Given the description of an element on the screen output the (x, y) to click on. 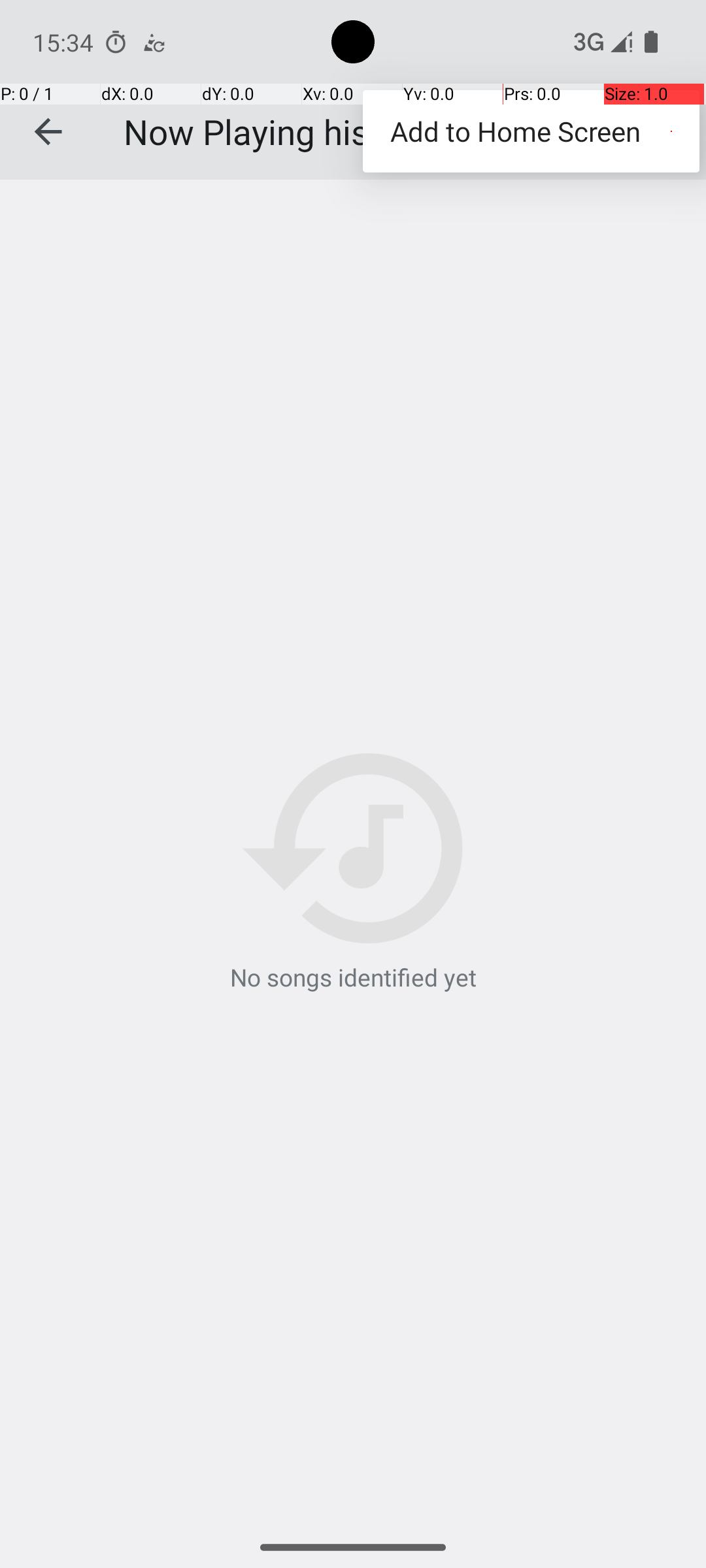
Add to Home Screen Element type: android.widget.TextView (531, 130)
